Given the description of an element on the screen output the (x, y) to click on. 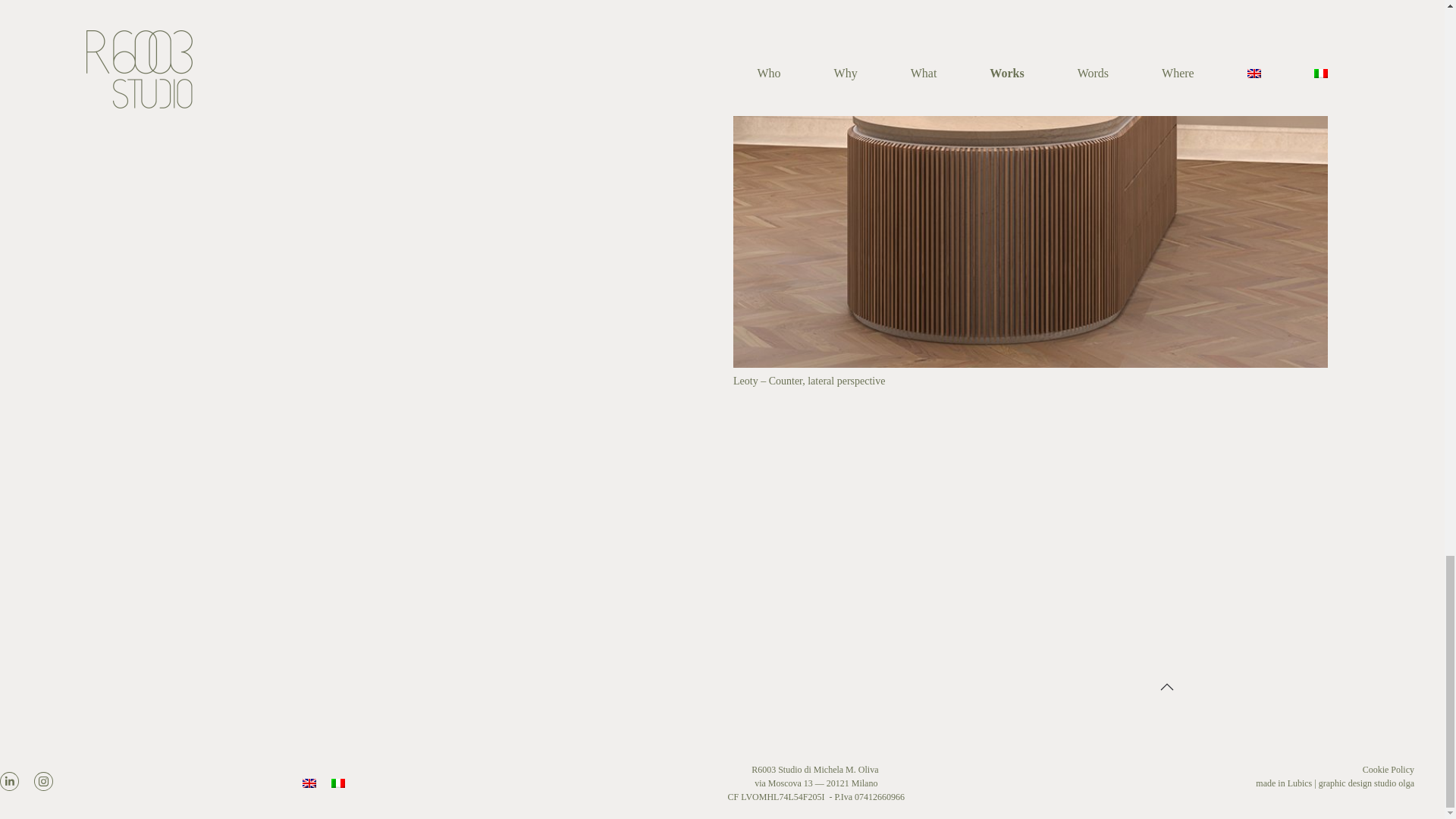
made in Lubics (1283, 783)
Cookie Policy (1387, 769)
made in LUBICS (1283, 783)
graphic design studio olga (1366, 783)
graphic design studio olga (1366, 783)
Cookie Policy (1387, 769)
